Given the description of an element on the screen output the (x, y) to click on. 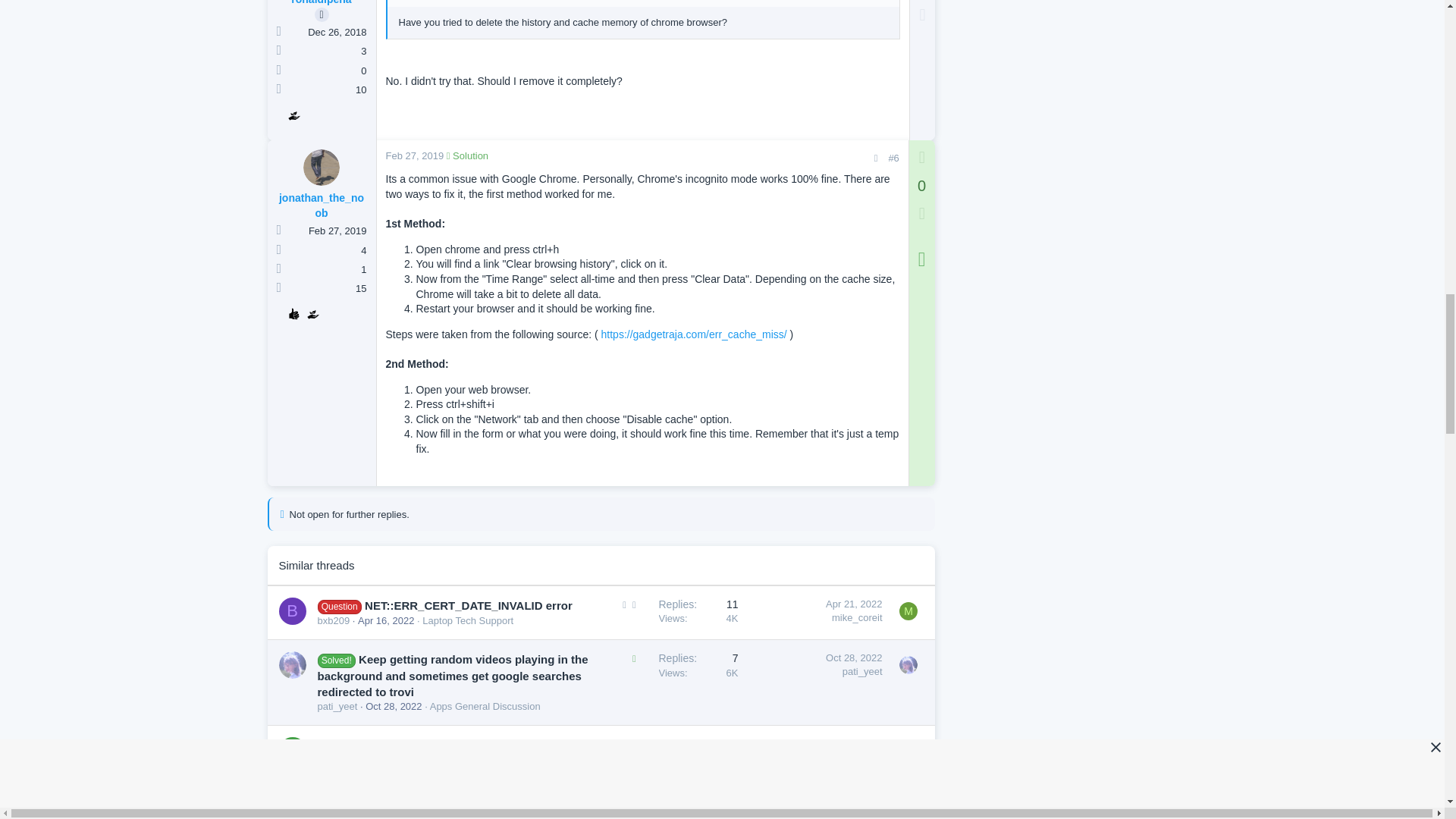
Feb 27, 2019 at 8:04 AM (414, 155)
